Given the description of an element on the screen output the (x, y) to click on. 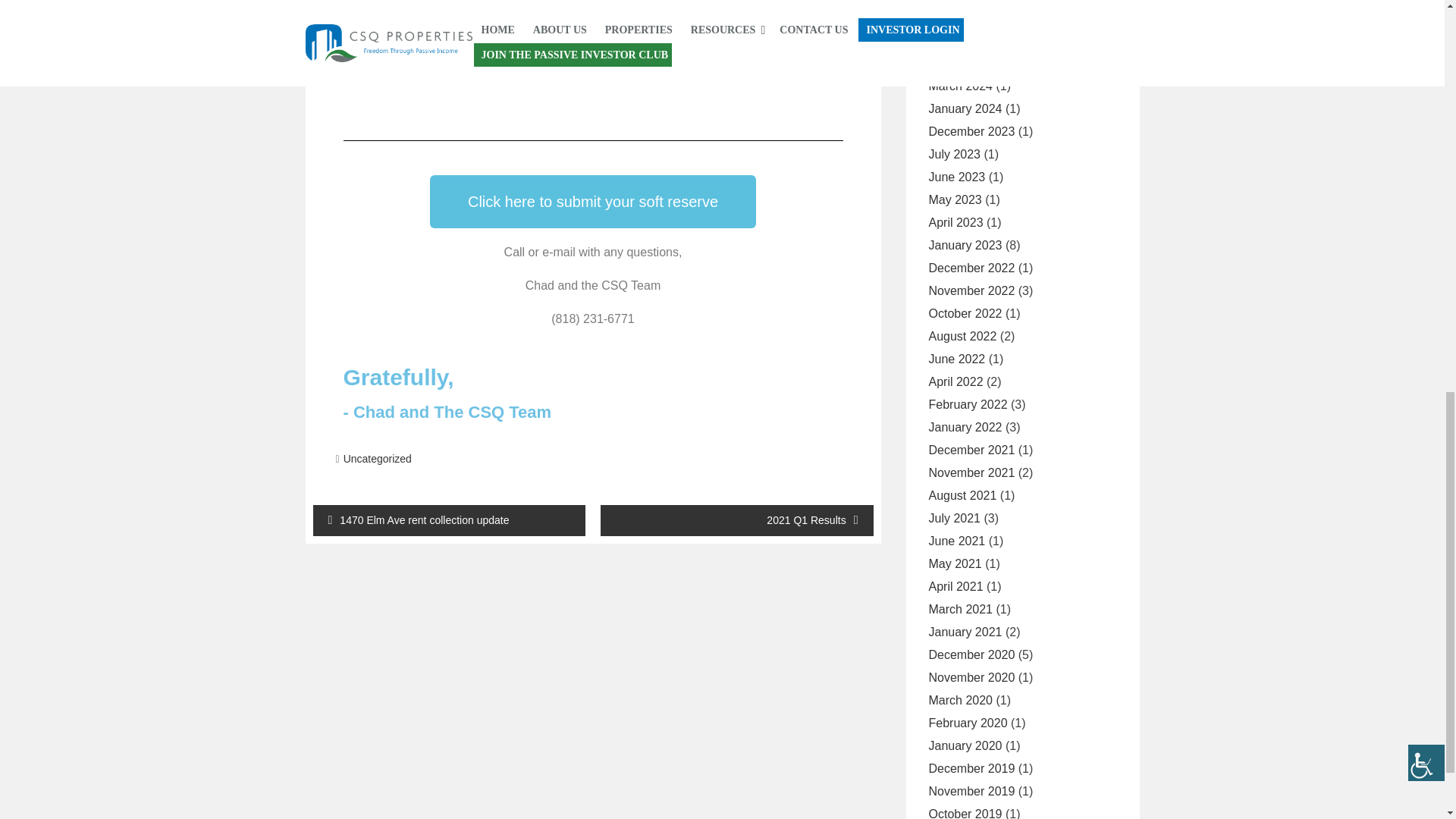
Click here to submit your soft reserve (592, 201)
here (644, 8)
